Given the description of an element on the screen output the (x, y) to click on. 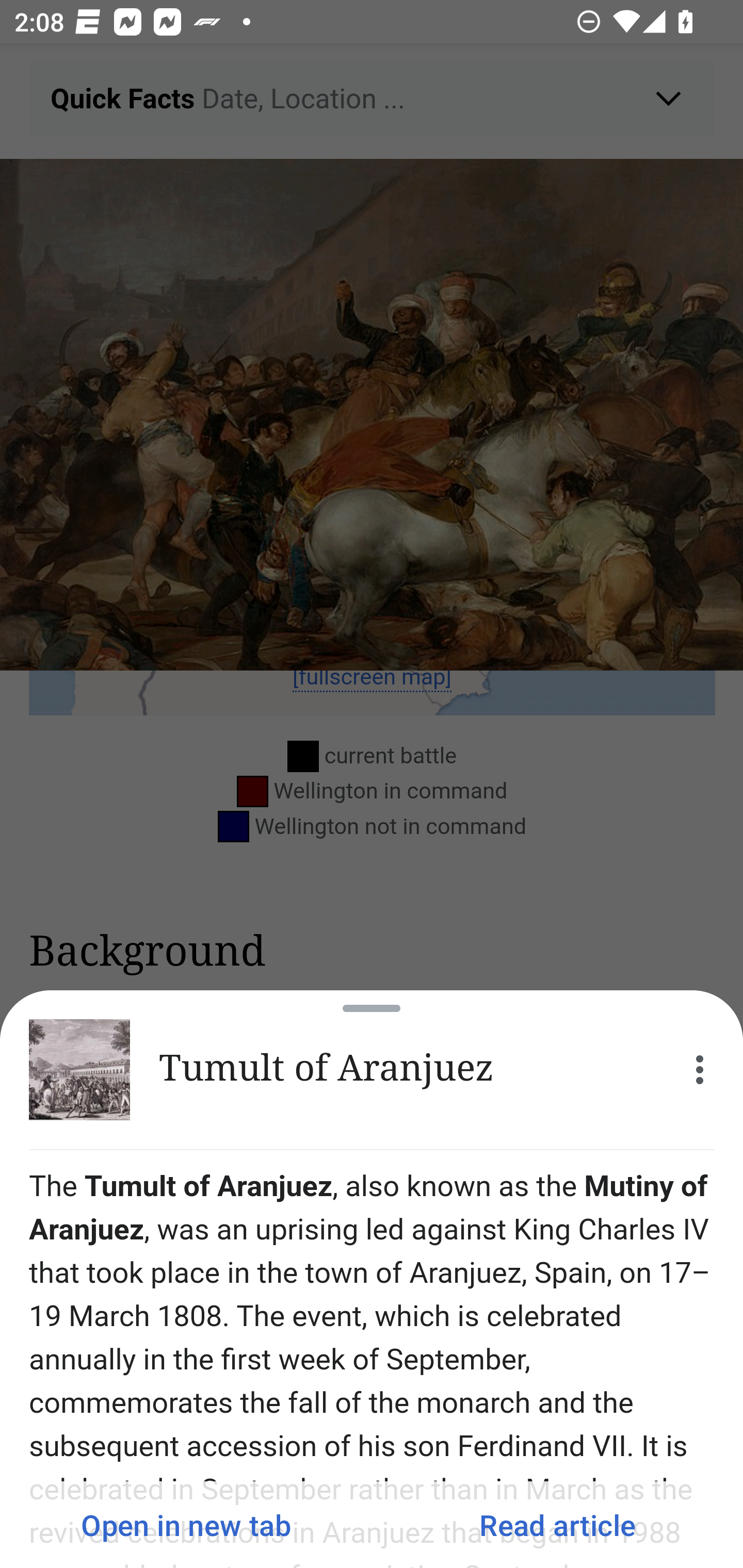
Tumult of Aranjuez More options (371, 1069)
More options (699, 1070)
Open in new tab (185, 1524)
Read article (557, 1524)
